Given the description of an element on the screen output the (x, y) to click on. 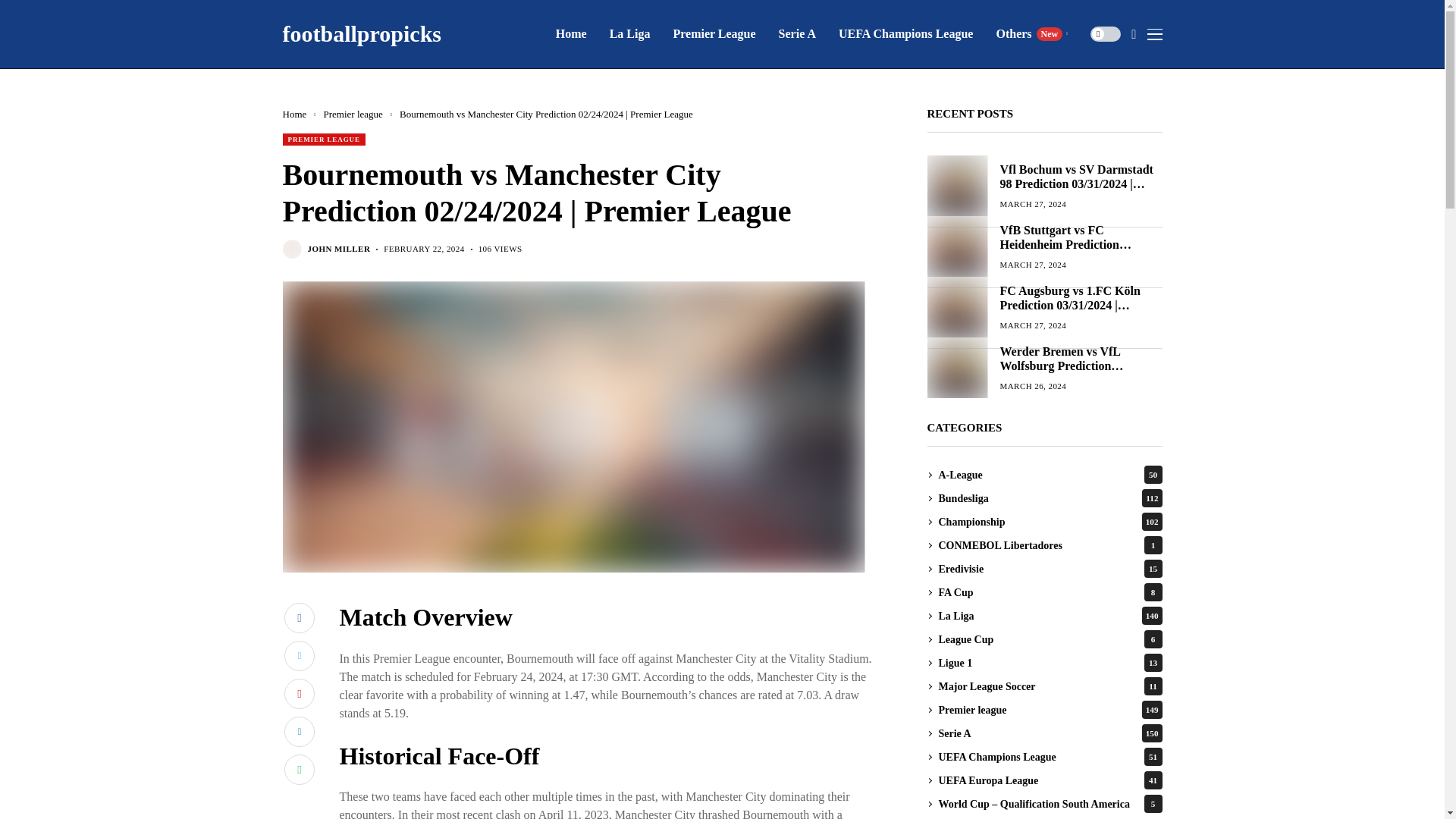
Posts by John Miller (339, 248)
footballpropicks (361, 33)
Premier League (713, 33)
UEFA Champions League (906, 33)
